Given the description of an element on the screen output the (x, y) to click on. 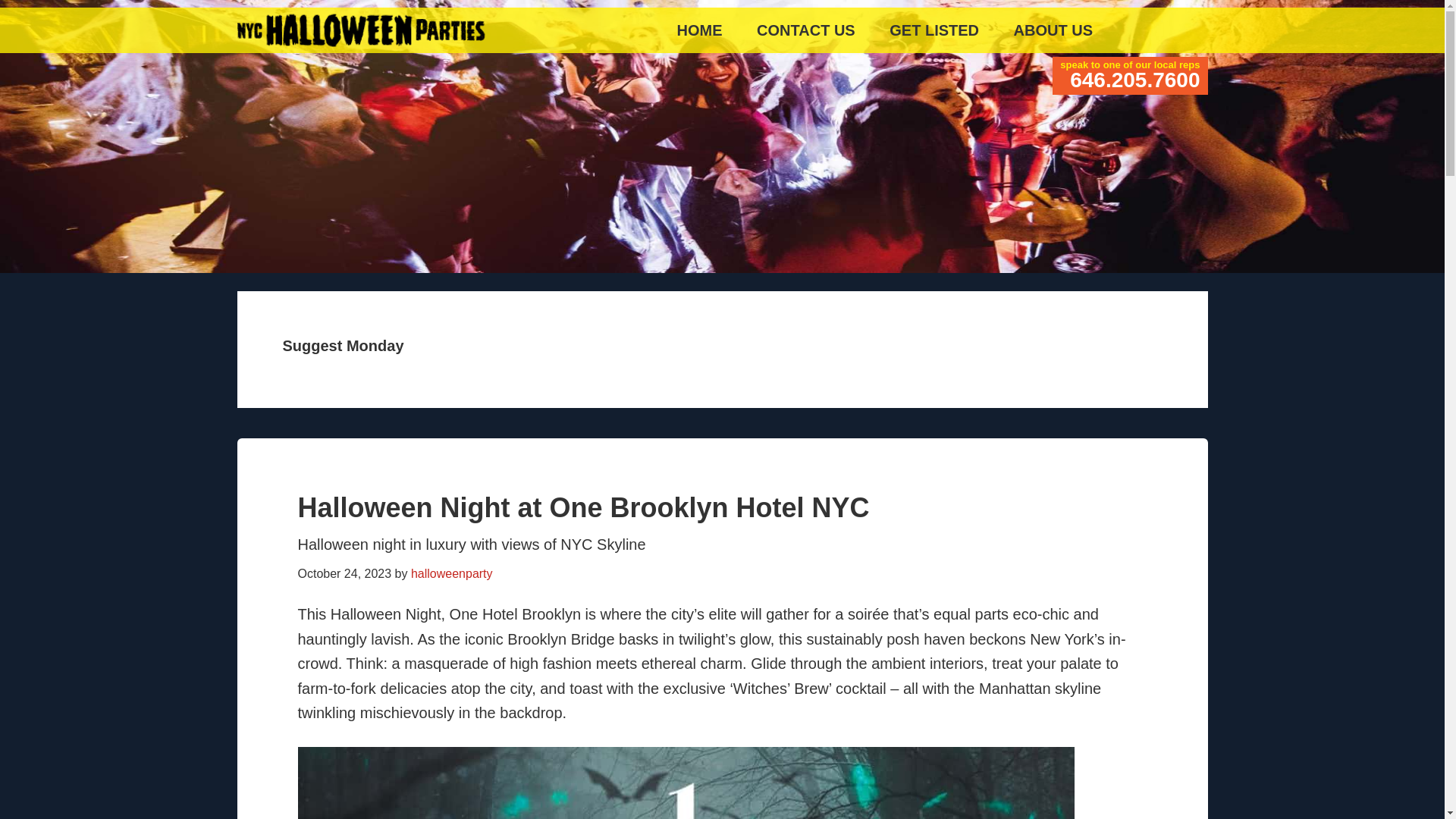
CONTACT US (805, 30)
HOME (698, 30)
GET LISTED (934, 30)
ABOUT US (1053, 30)
Best NYC Halloween Parties in 2024 (425, 30)
halloweenparty (451, 573)
646.205.7600 (1134, 79)
